Given the description of an element on the screen output the (x, y) to click on. 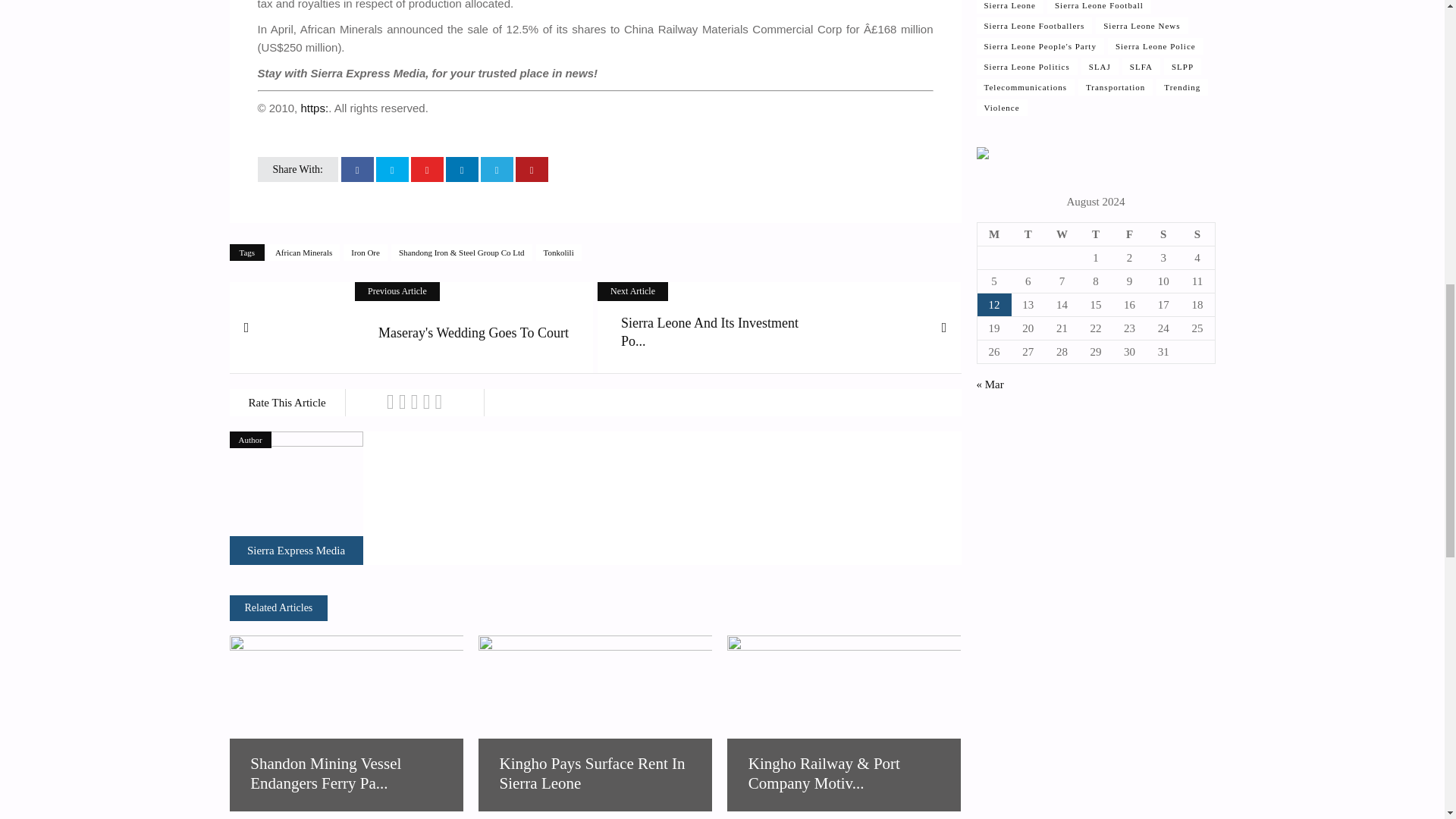
Wednesday (1061, 234)
Saturday (1163, 234)
Internet Programming Solutions - A SaloneTech Company (982, 155)
Monday (993, 234)
Sunday (1196, 234)
Thursday (1095, 234)
Tuesday (1028, 234)
Friday (1129, 234)
